Given the description of an element on the screen output the (x, y) to click on. 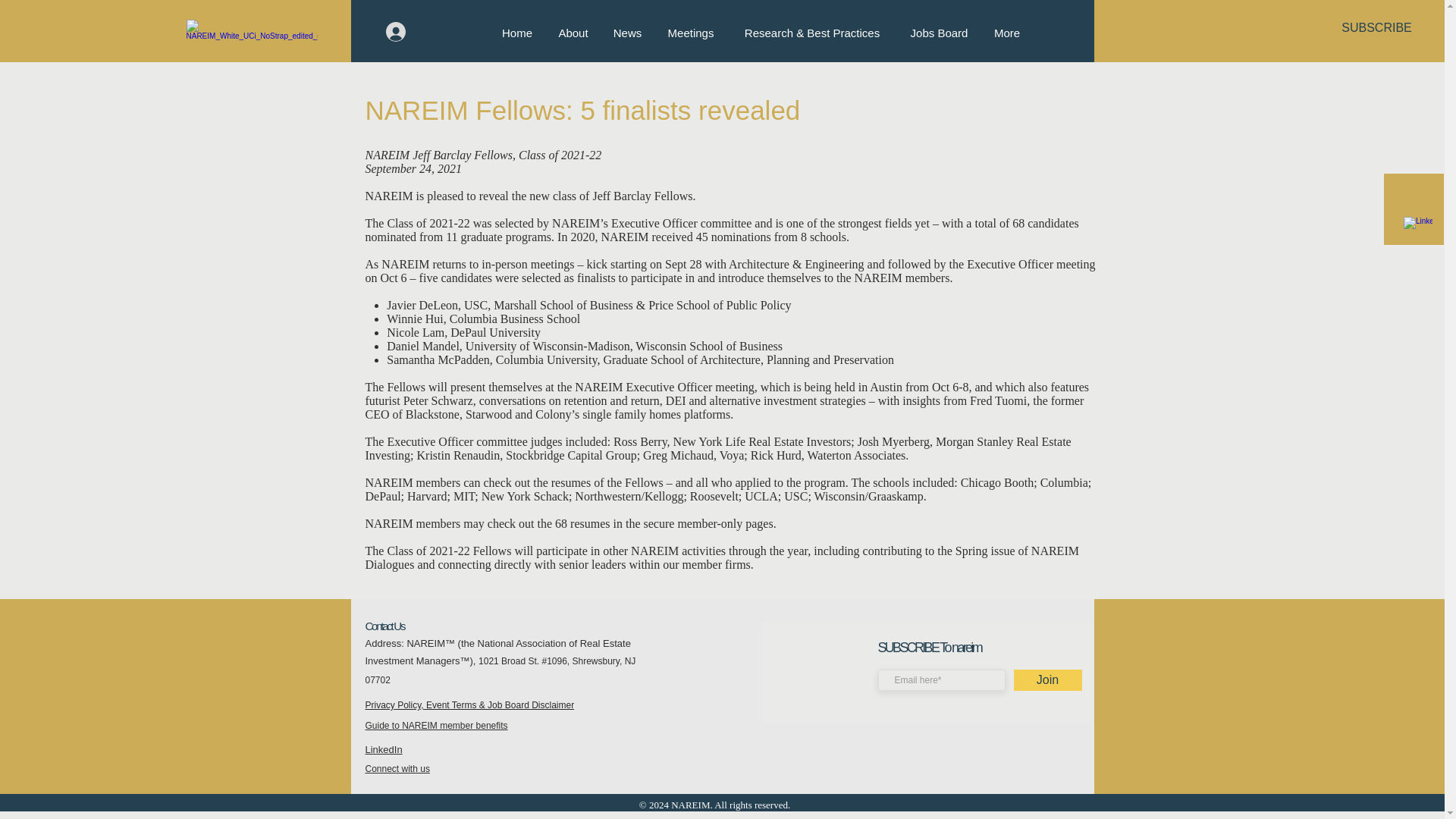
Log In (417, 31)
LinkedIn (384, 749)
About (573, 32)
Meetings (689, 32)
Connect with us (397, 768)
Home (515, 32)
Join (1047, 680)
News (626, 32)
Contact Us (384, 625)
Jobs Board (938, 32)
